Given the description of an element on the screen output the (x, y) to click on. 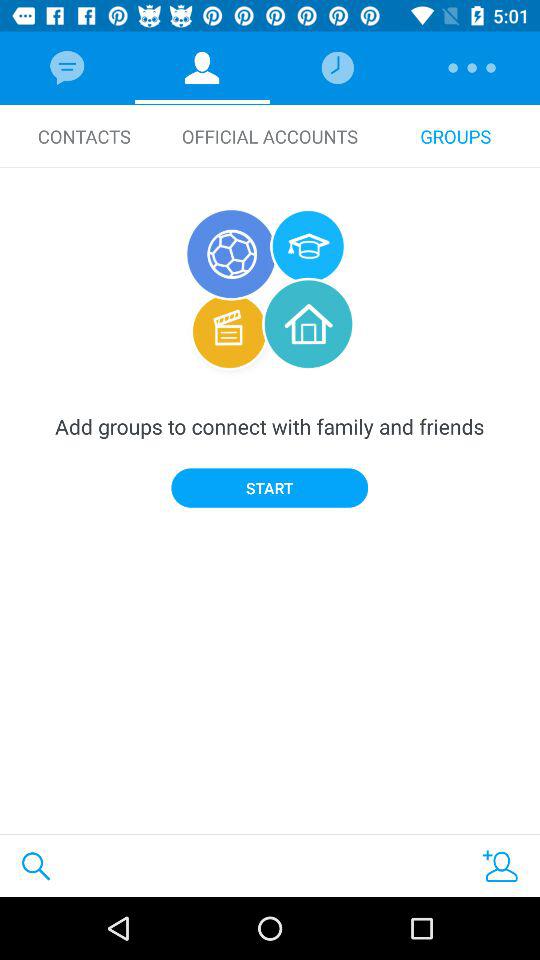
choose the item below add groups to (269, 487)
